Given the description of an element on the screen output the (x, y) to click on. 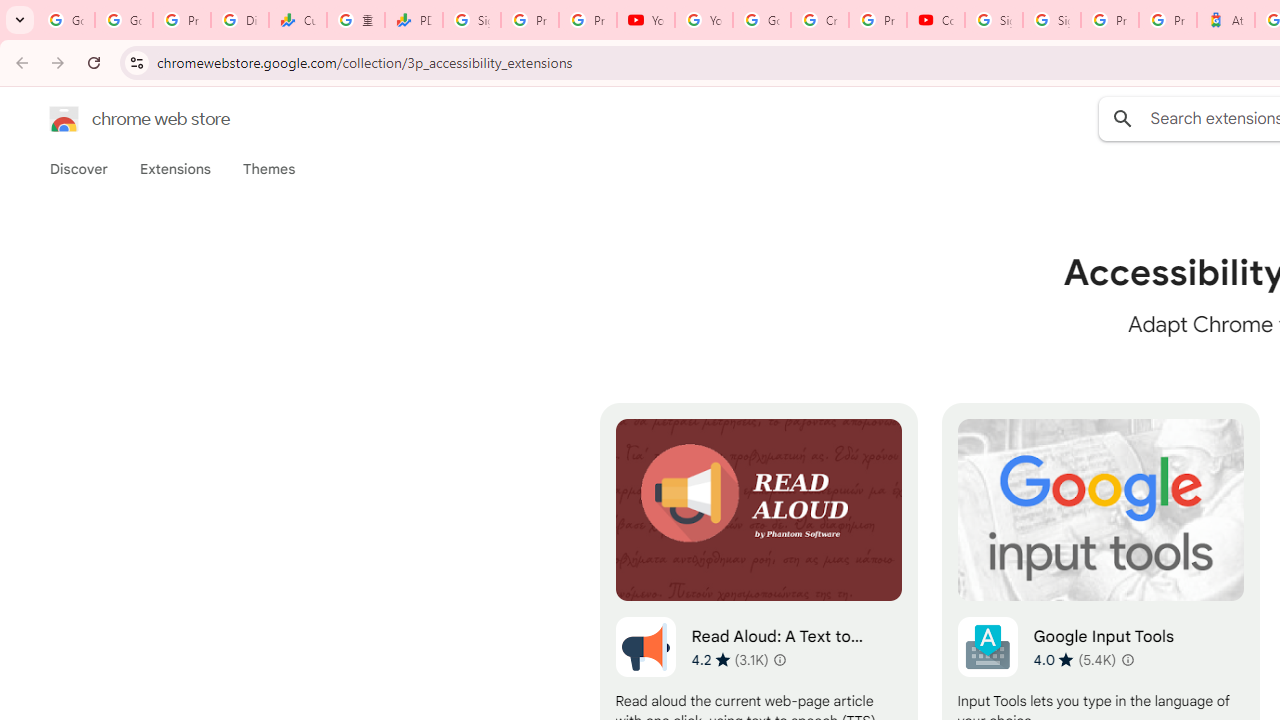
Average rating 4.0 out of 5 stars. 5.4K ratings. (1074, 659)
Google Workspace Admin Community (65, 20)
PDD Holdings Inc - ADR (PDD) Price & News - Google Finance (413, 20)
Sign in - Google Accounts (1051, 20)
